Given the description of an element on the screen output the (x, y) to click on. 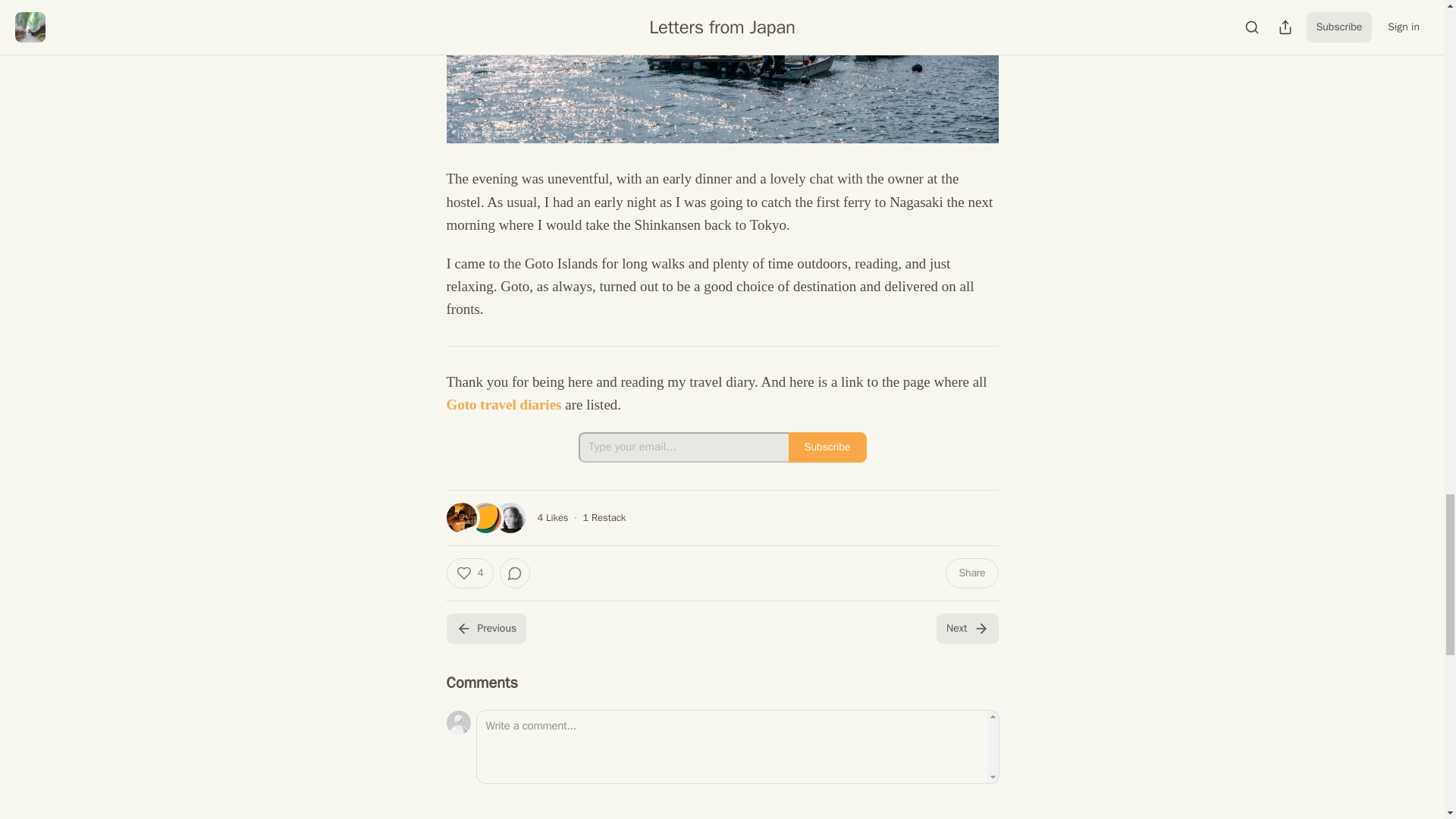
4 Likes (552, 517)
4 (469, 572)
Subscribe (827, 447)
1 Restack (604, 517)
Goto travel diaries (502, 404)
